Given the description of an element on the screen output the (x, y) to click on. 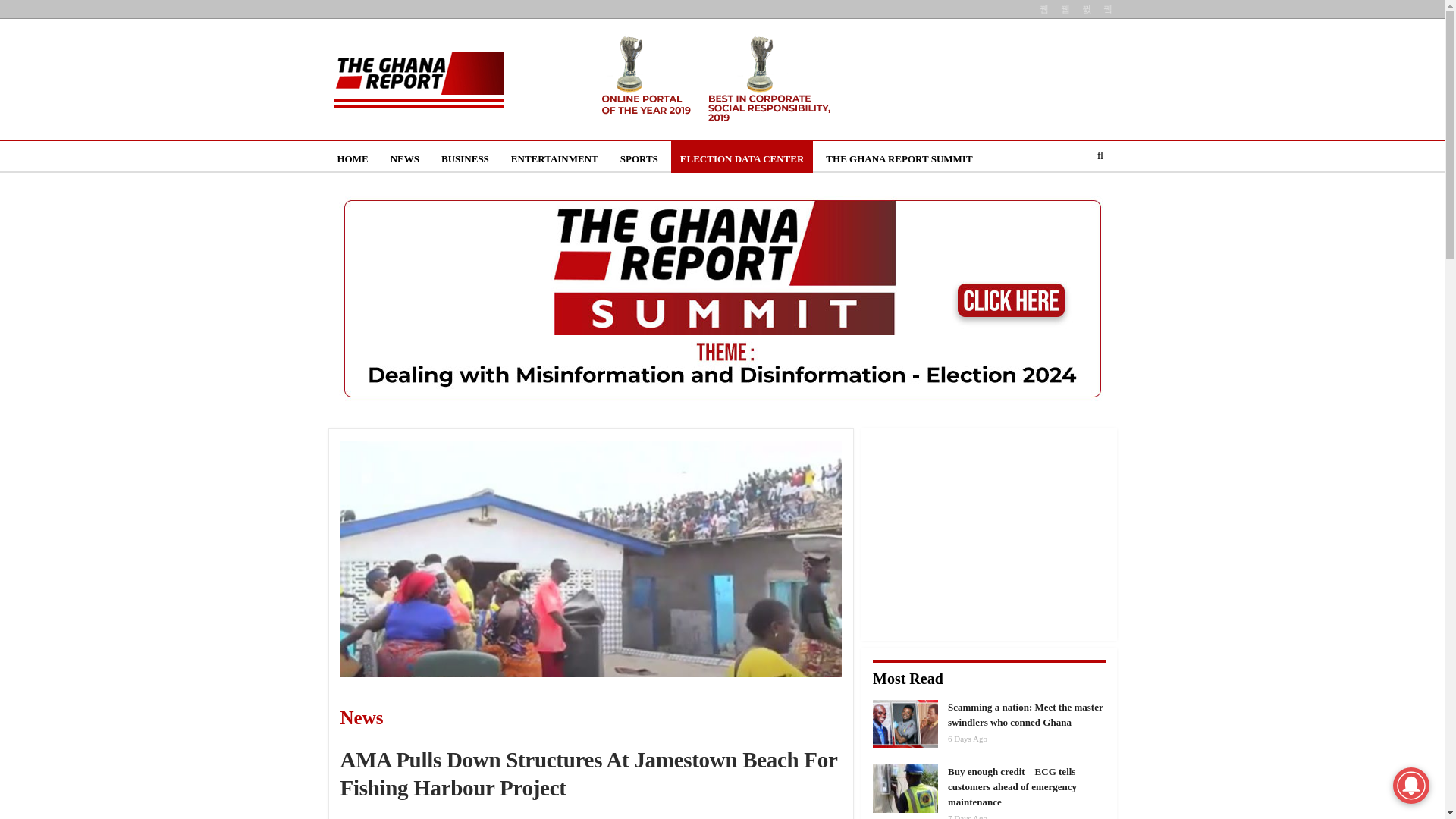
BUSINESS (464, 158)
HOME (352, 158)
THE GHANA REPORT SUMMIT (898, 158)
ENTERTAINMENT (554, 158)
ELECTION DATA CENTER (742, 158)
NEWS (404, 158)
SPORTS (638, 158)
Advertisement (988, 534)
News (453, 717)
